Given the description of an element on the screen output the (x, y) to click on. 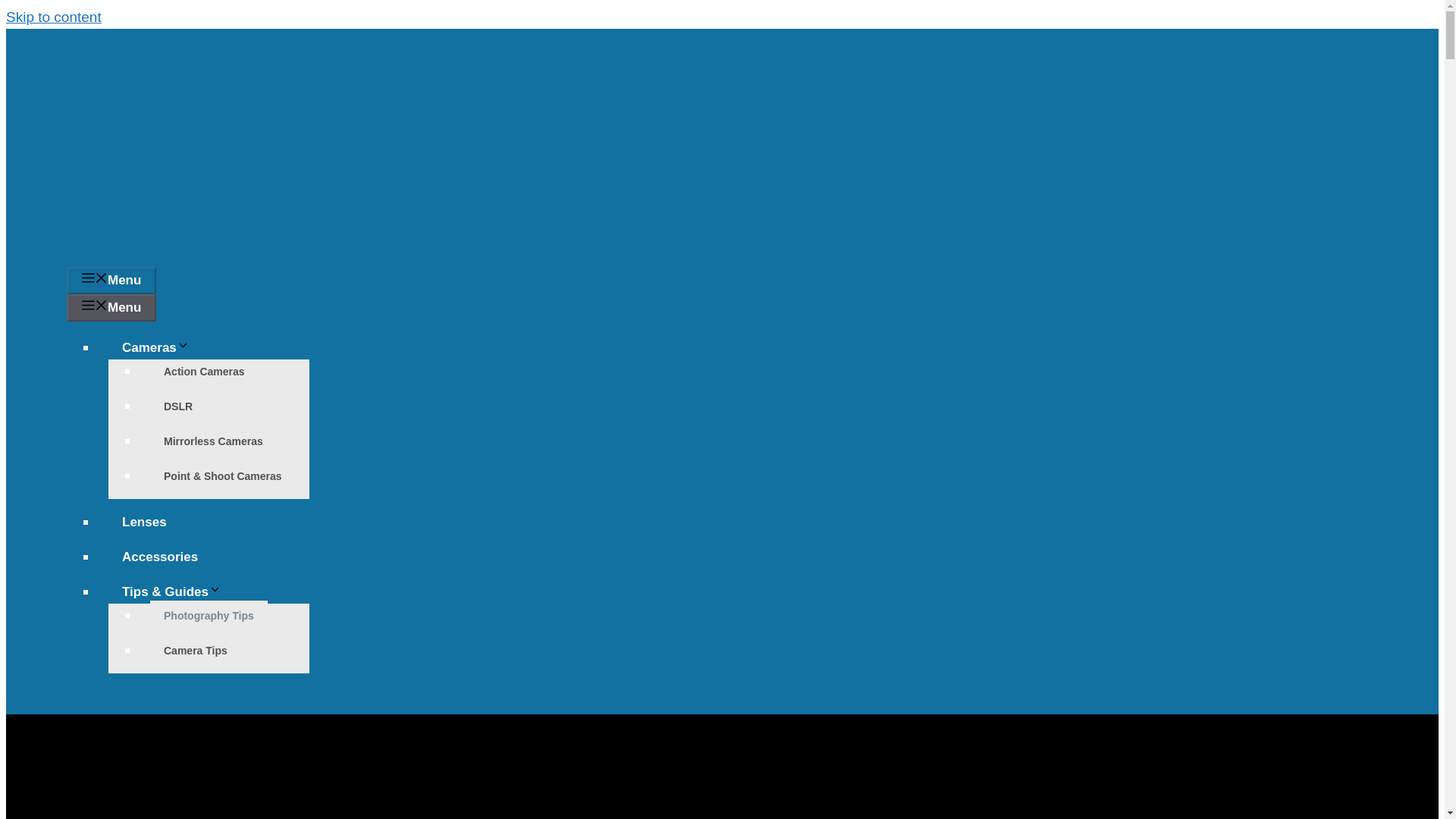
Camera Tips (195, 650)
Skip to content (53, 17)
Menu (110, 280)
Menu (110, 307)
Mirrorless Cameras (212, 440)
DSLR (177, 406)
Action Cameras (204, 371)
The Photo Ambition (104, 151)
Skip to content (53, 17)
Photography Tips (208, 615)
Lenses (143, 522)
Accessories (159, 556)
The Photo Ambition (104, 254)
Cameras (161, 347)
